Given the description of an element on the screen output the (x, y) to click on. 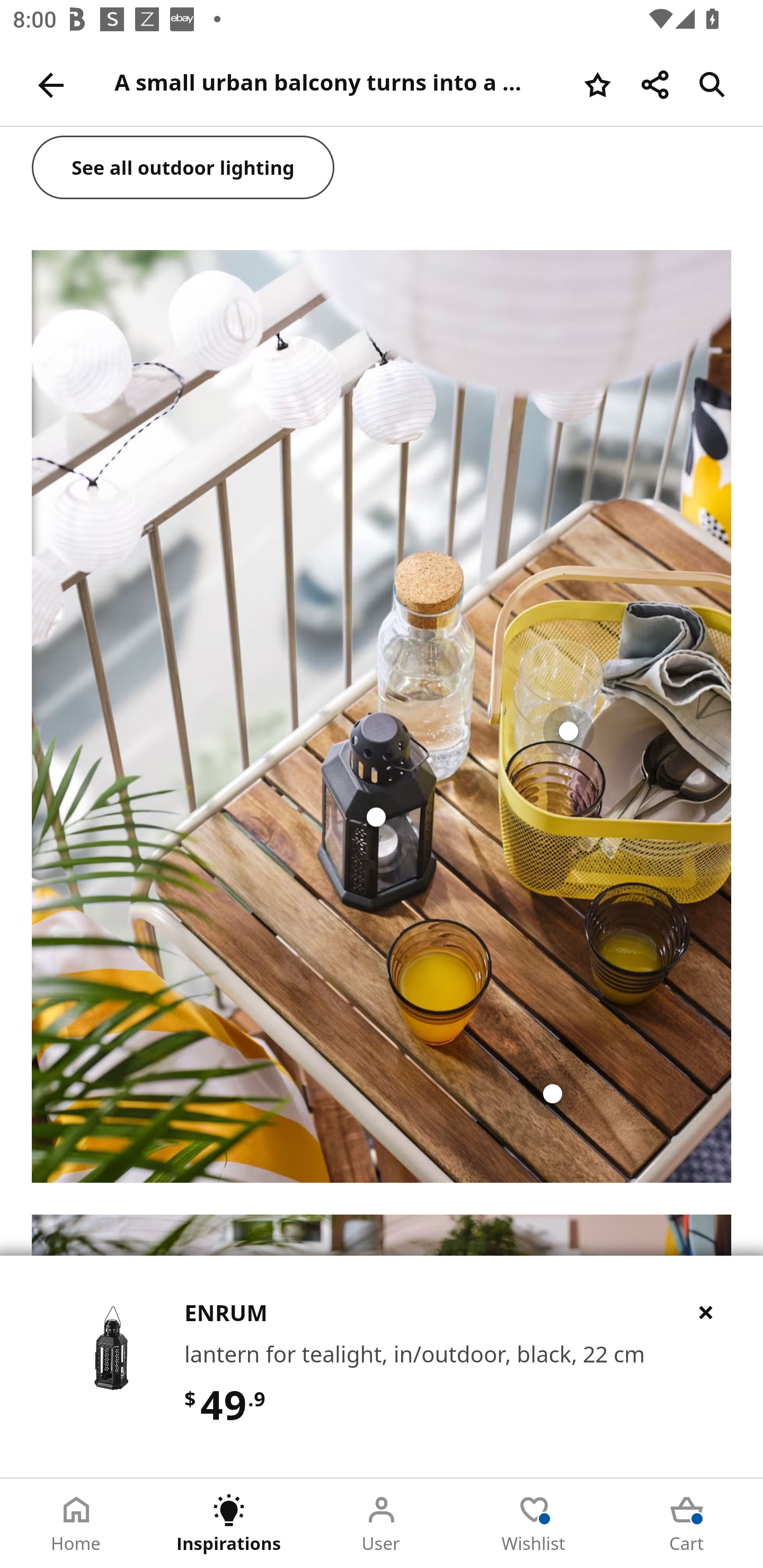
See all outdoor lighting (183, 169)
Home
Tab 1 of 5 (76, 1522)
Inspirations
Tab 2 of 5 (228, 1522)
User
Tab 3 of 5 (381, 1522)
Wishlist
Tab 4 of 5 (533, 1522)
Cart
Tab 5 of 5 (686, 1522)
